Given the description of an element on the screen output the (x, y) to click on. 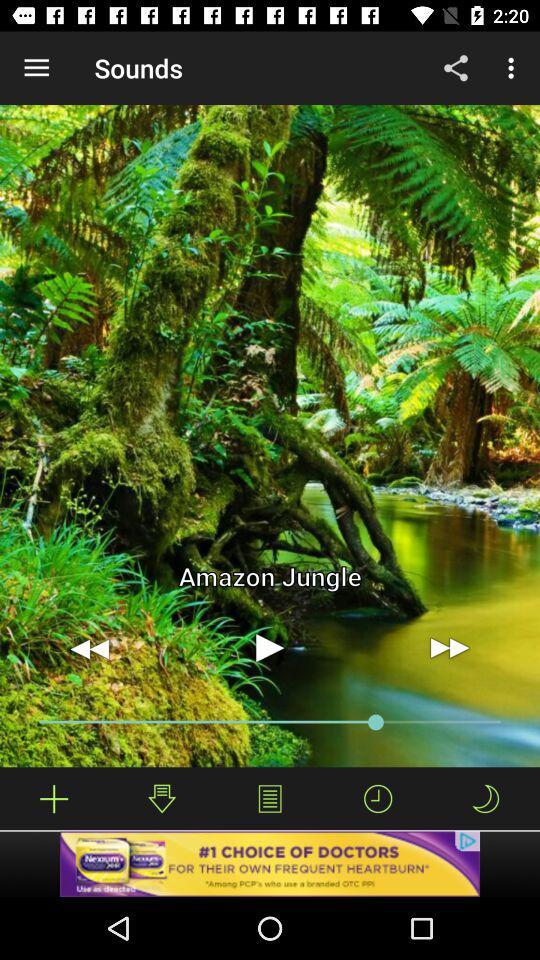
add the file (54, 798)
